Given the description of an element on the screen output the (x, y) to click on. 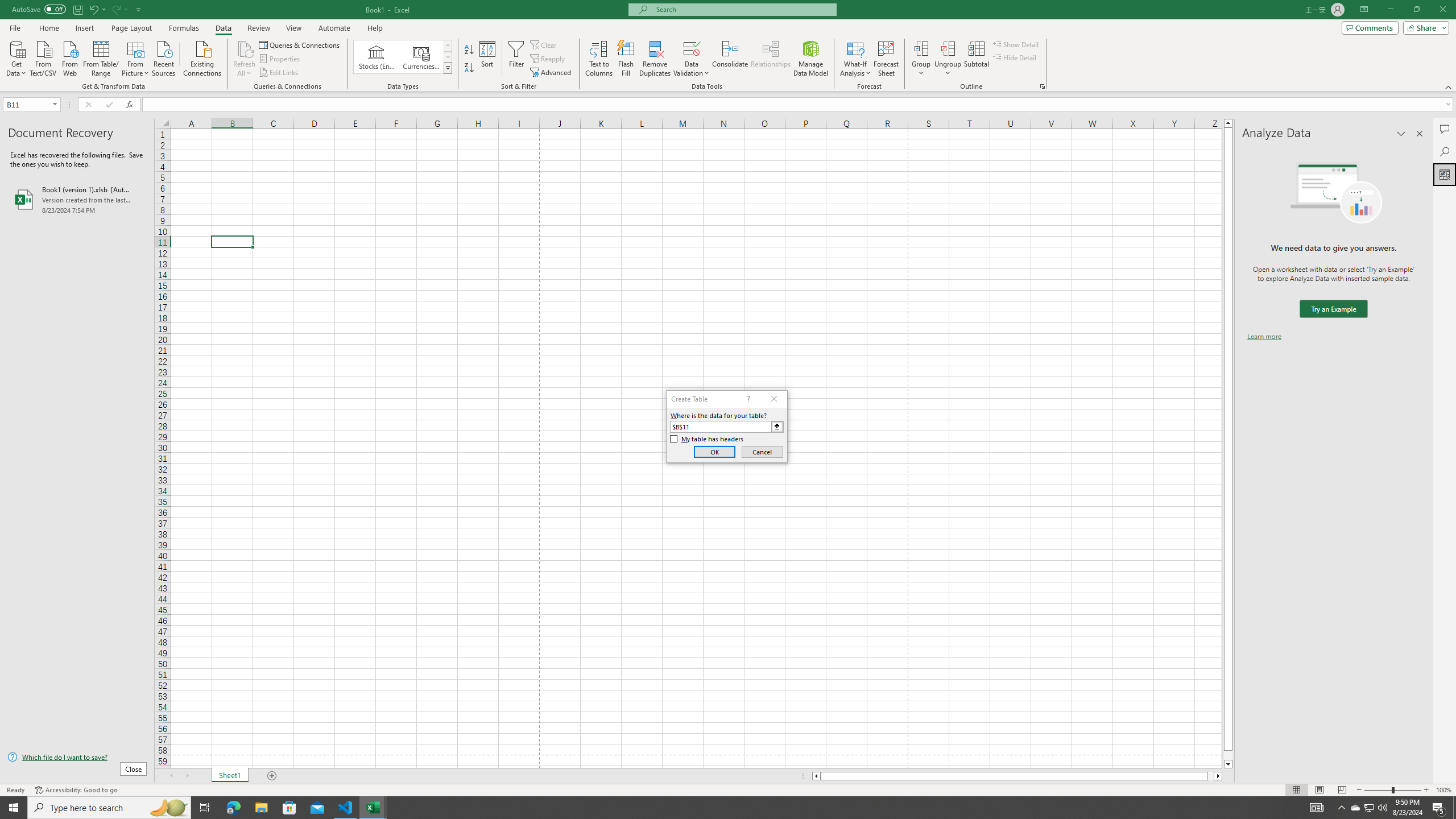
Comments (1444, 128)
Refresh All (244, 58)
Undo (92, 9)
Scroll Right (187, 775)
Close (1442, 9)
Restore Down (1416, 9)
Data Validation... (691, 48)
Queries & Connections (300, 44)
Zoom In (1426, 790)
Manage Data Model (810, 58)
Home (48, 28)
Minimize (1390, 9)
From Table/Range (100, 57)
Sort... (487, 58)
More Options (947, 68)
